Given the description of an element on the screen output the (x, y) to click on. 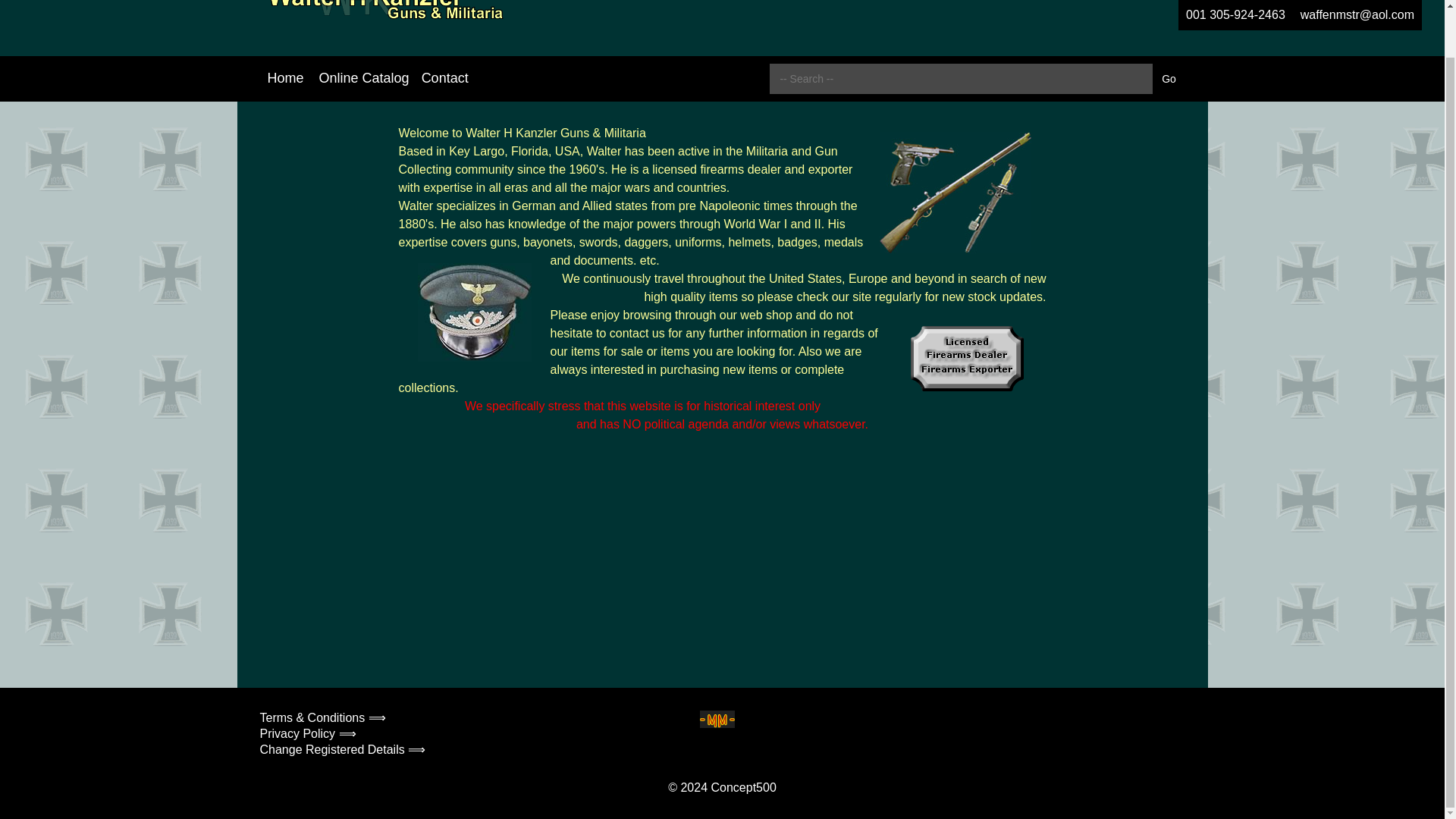
Go (1169, 79)
Concept500 (743, 787)
Go (1169, 79)
Contact (444, 78)
Online Catalog (363, 78)
Home (285, 78)
Logo (384, 16)
